Given the description of an element on the screen output the (x, y) to click on. 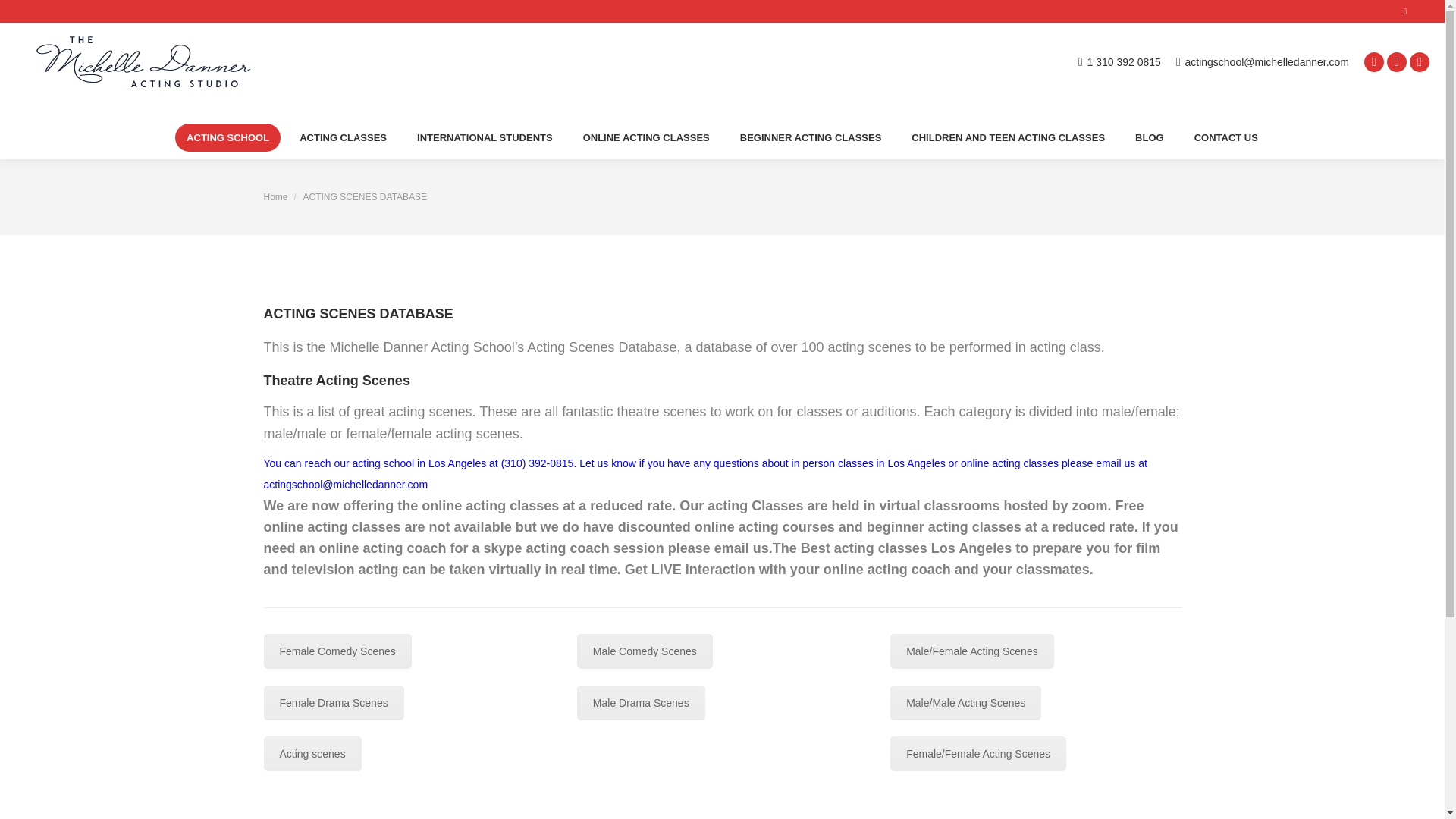
BEGINNER ACTING CLASSES (811, 137)
ACTING CLASSES (342, 137)
Facebook page opens in new window (1374, 61)
X page opens in new window (1396, 61)
X page opens in new window (1396, 61)
Instagram page opens in new window (1419, 61)
INTERNATIONAL STUDENTS (485, 137)
Instagram page opens in new window (1419, 61)
1 310 392 0815 (1119, 60)
Facebook page opens in new window (1374, 61)
Go! (25, 16)
ACTING SCHOOL (227, 137)
Home (275, 196)
